Given the description of an element on the screen output the (x, y) to click on. 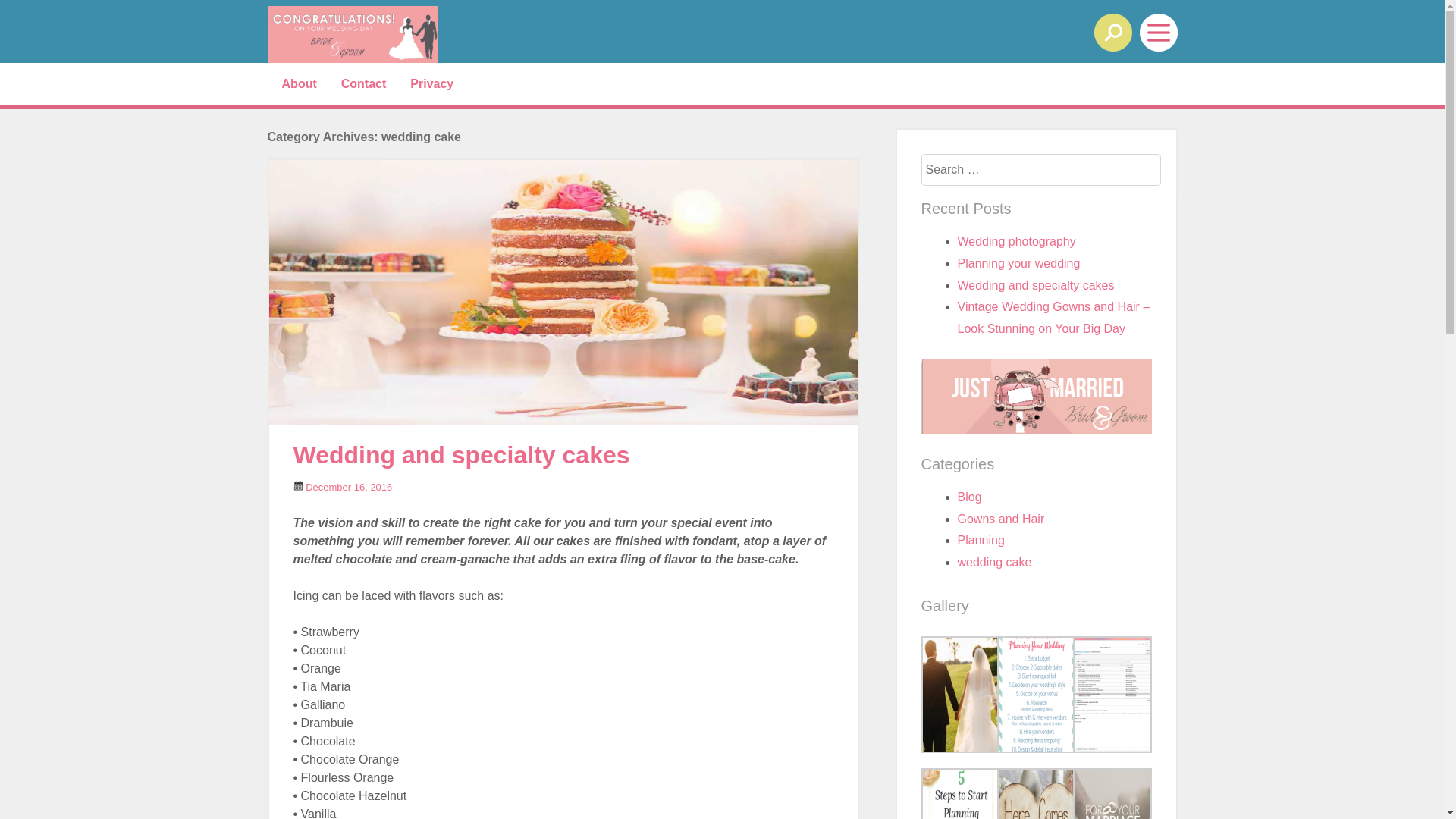
wedding cake Element type: text (994, 561)
Privacy Element type: text (431, 84)
Wedding and specialty cakes Element type: text (460, 454)
Give Well Weddings Element type: hover (448, 34)
Contact Element type: text (363, 84)
Planning your wedding Element type: text (1018, 263)
Planning Element type: text (980, 539)
Blog Element type: text (969, 496)
Gowns and Hair Element type: text (1000, 518)
About Element type: text (299, 84)
December 16, 2016 Element type: text (348, 486)
Skip to content Element type: text (43, 78)
Submit Element type: text (40, 16)
Wedding photography Element type: text (1016, 241)
Wedding and specialty cakes Element type: text (1035, 285)
